Given the description of an element on the screen output the (x, y) to click on. 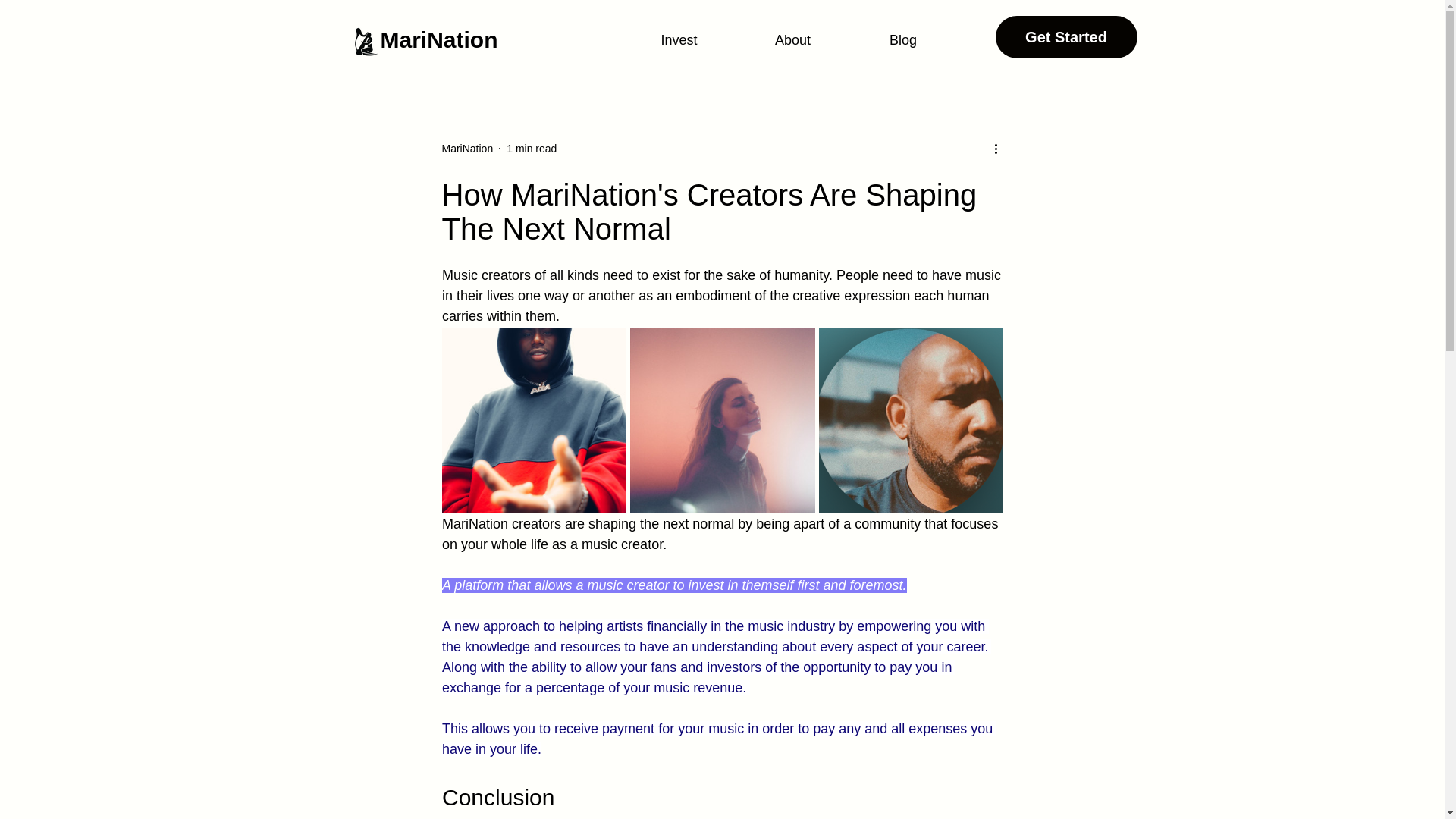
MariNation (438, 39)
1 min read (531, 148)
About (792, 39)
MariNation (467, 148)
Blog (903, 39)
Get Started (1065, 36)
Invest (679, 39)
